Given the description of an element on the screen output the (x, y) to click on. 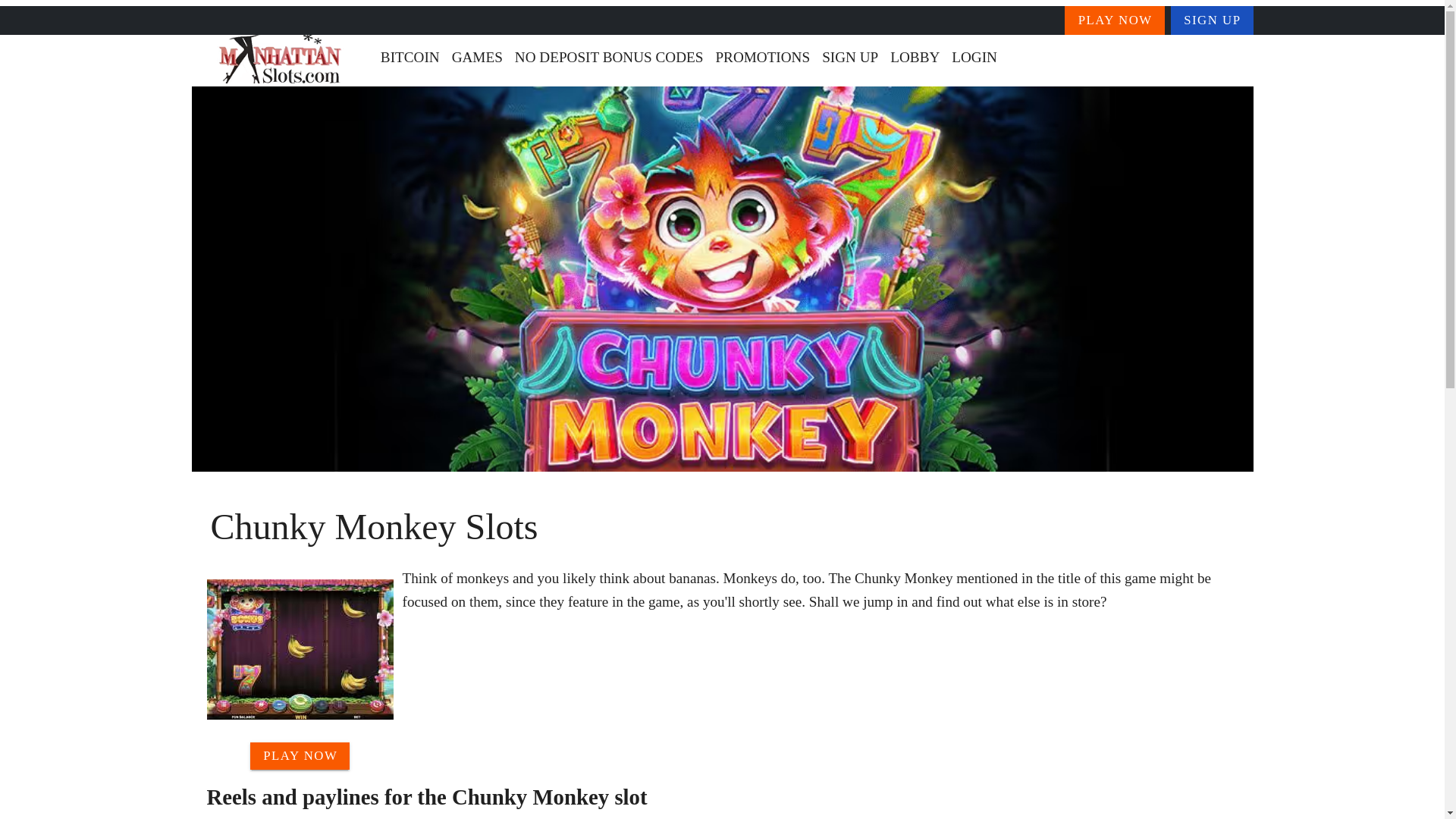
NO DEPOSIT BONUS CODES (609, 57)
PLAY NOW (300, 755)
LOGIN (973, 57)
PROMOTIONS (762, 57)
BITCOIN (409, 57)
GAMES (476, 57)
PLAY NOW (1114, 20)
SIGN UP (849, 57)
LOBBY (913, 57)
SIGN UP (1211, 20)
